Given the description of an element on the screen output the (x, y) to click on. 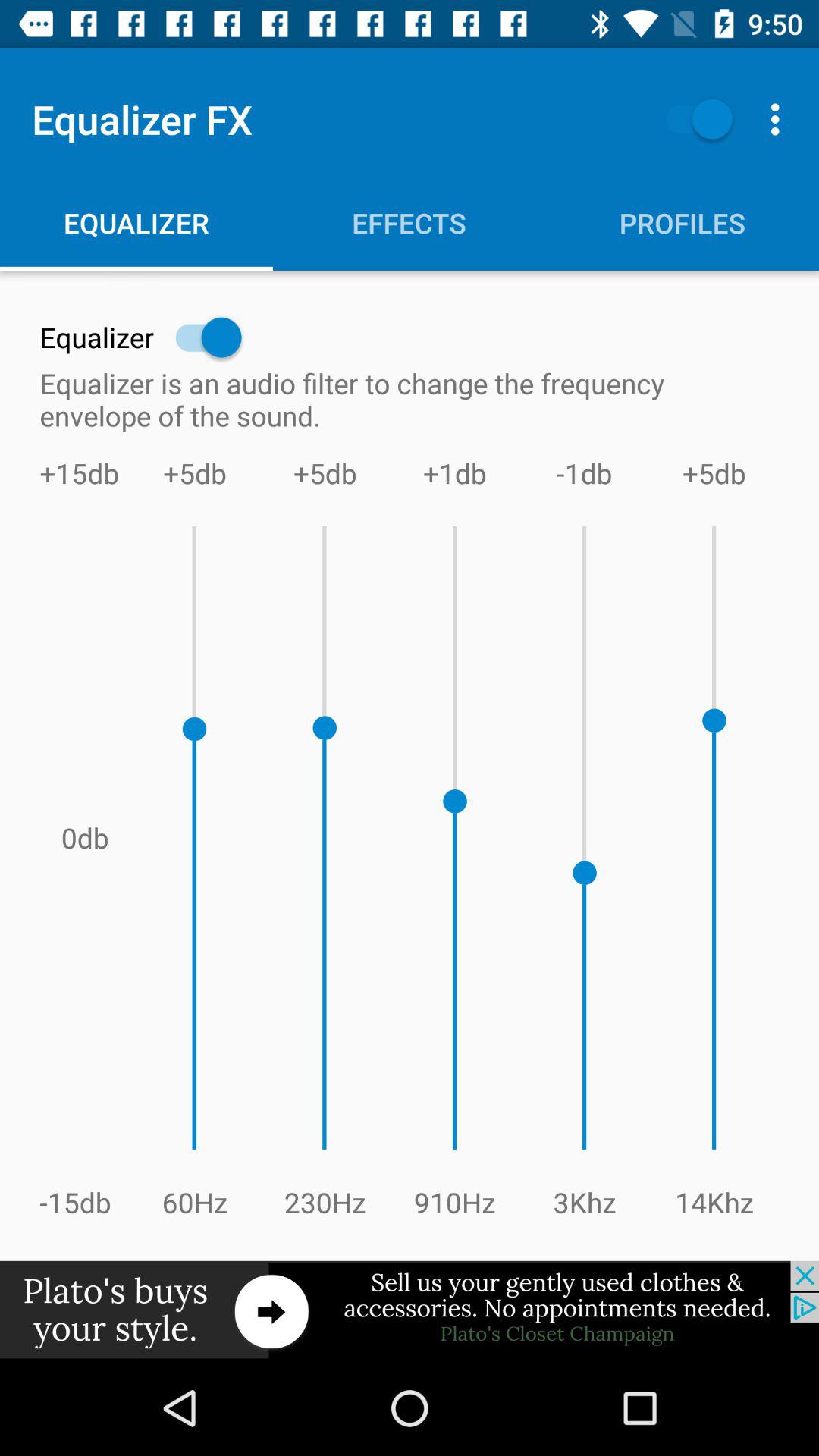
go to on button (691, 119)
